Given the description of an element on the screen output the (x, y) to click on. 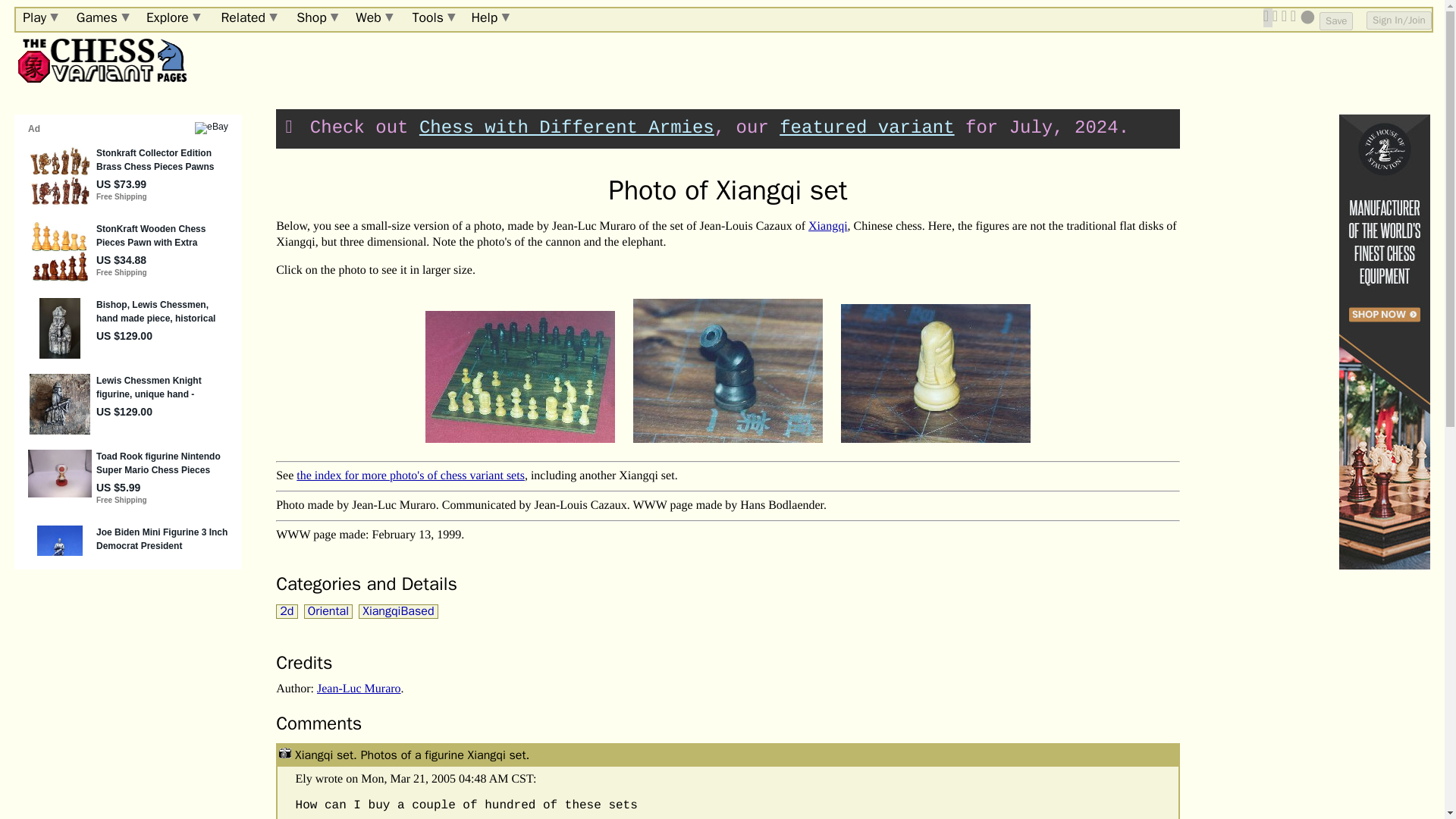
the index for more photo's of chess variant sets (410, 475)
Force use of the light color scheme. (1285, 17)
Xiangqi (827, 226)
XiangqiBased (398, 611)
Use a minimalist light scheme for printing. (1276, 17)
featured variant (865, 127)
Use a darker high contrast color scheme. (1308, 17)
Save (1335, 21)
Save (1335, 21)
Save the current color scheme to a cookie. (1335, 21)
Jean-Luc Muraro (359, 688)
The House of Staunton (1384, 341)
Oriental (328, 611)
Force use of the dark color scheme. (1295, 17)
